Given the description of an element on the screen output the (x, y) to click on. 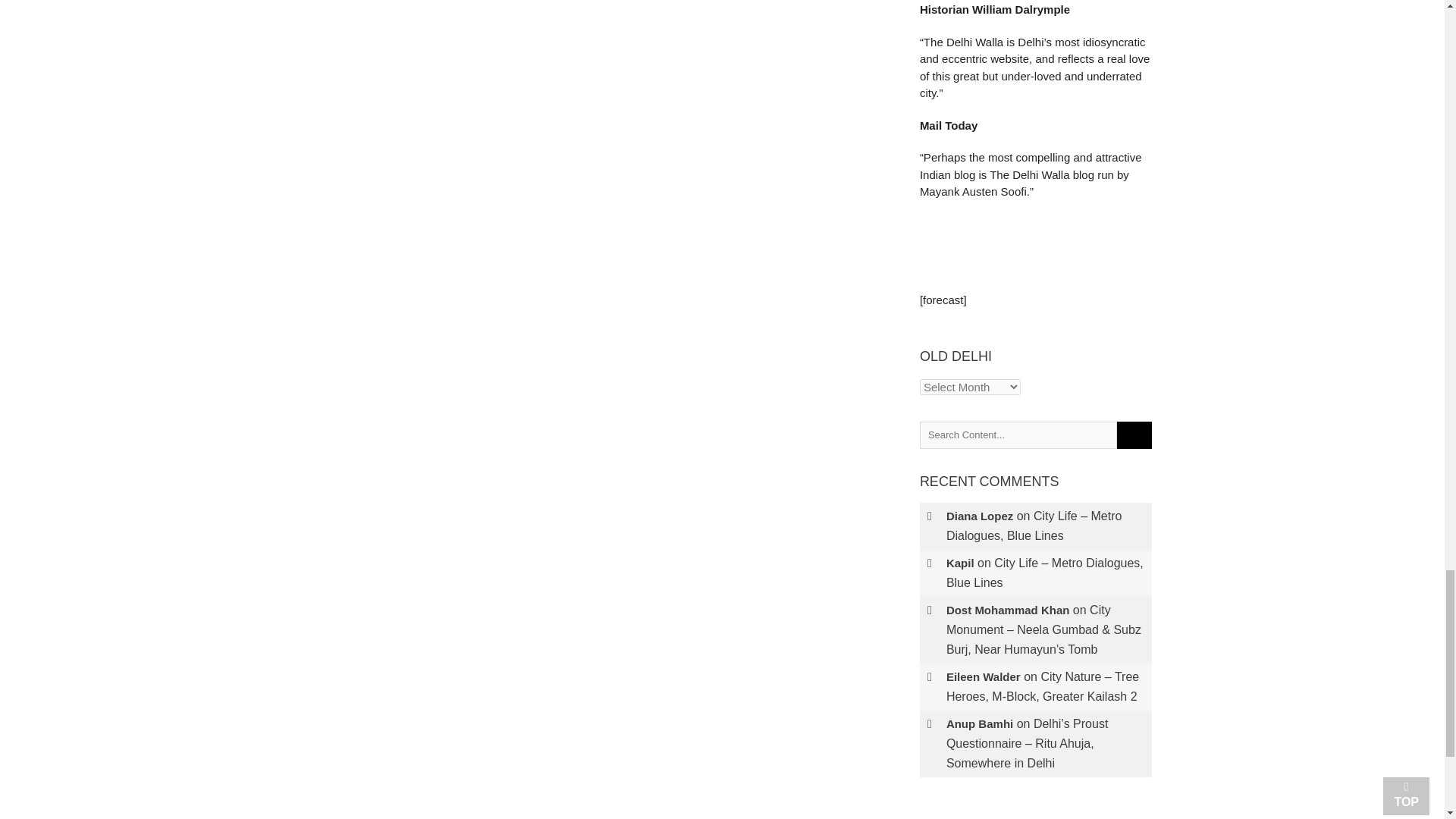
Search for: (1018, 434)
